Given the description of an element on the screen output the (x, y) to click on. 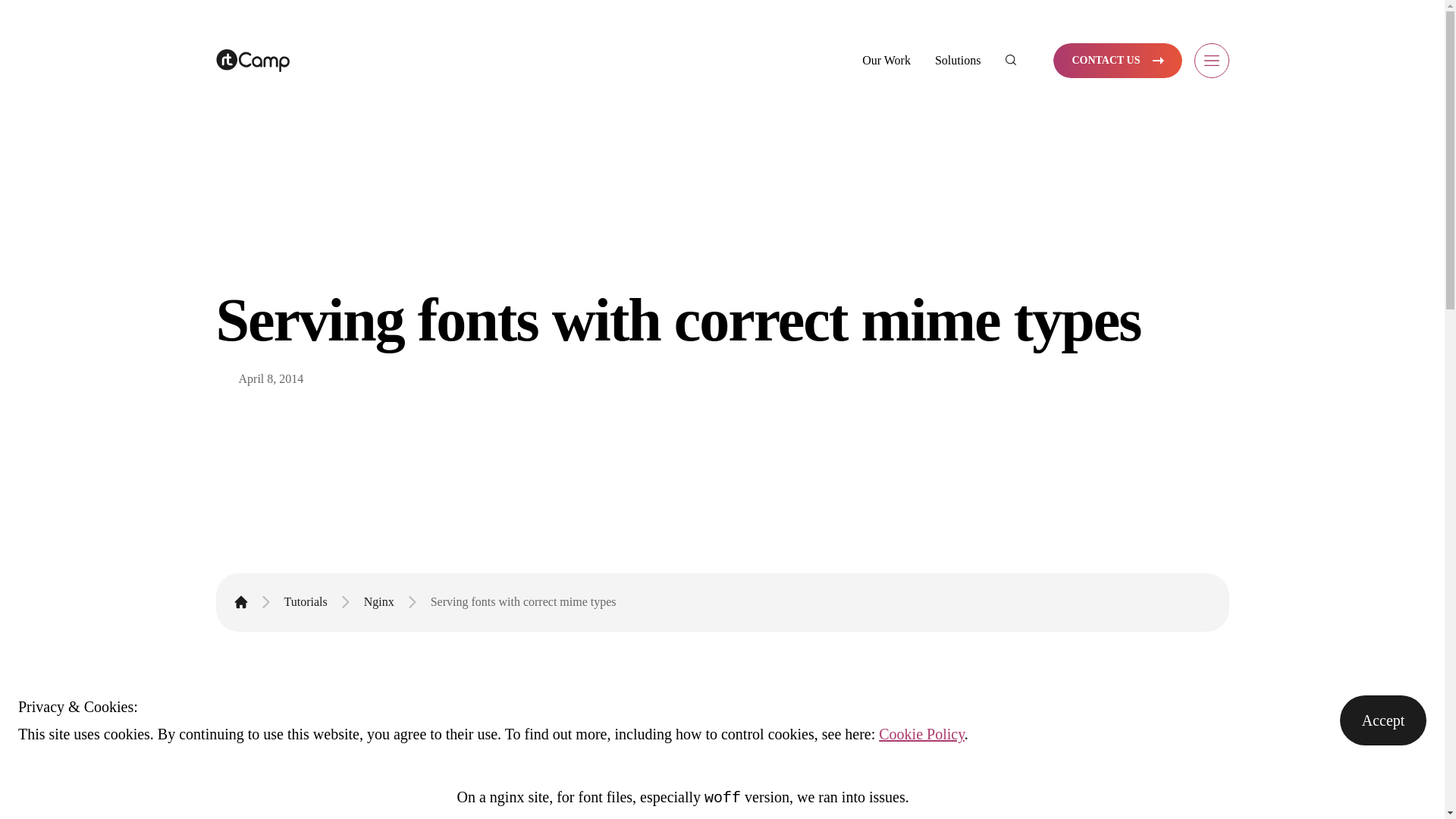
Our Work (886, 60)
Solutions (956, 60)
CONTACT US (1116, 60)
